Given the description of an element on the screen output the (x, y) to click on. 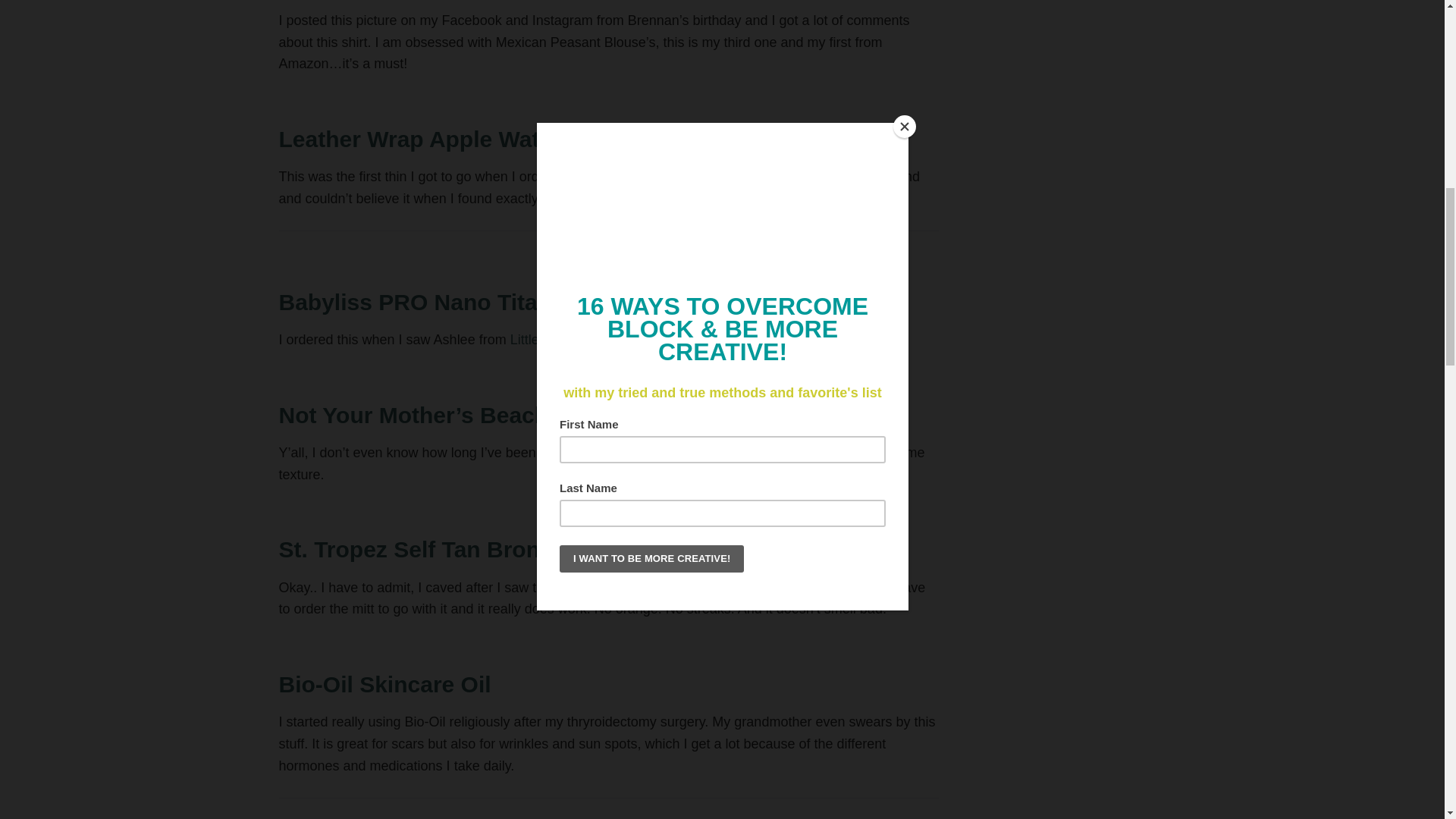
Leather Wrap Apple Watch Band (453, 138)
